Given the description of an element on the screen output the (x, y) to click on. 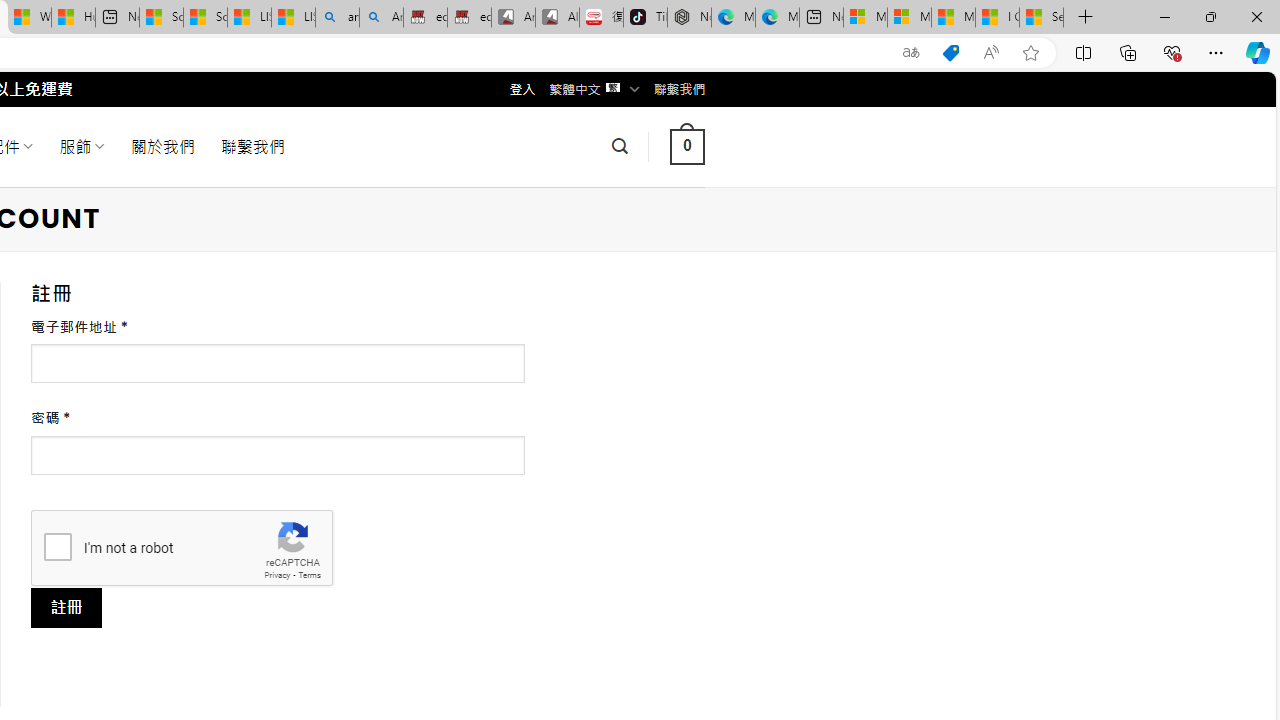
Privacy (276, 575)
Huge shark washes ashore at New York City beach | Watch (73, 17)
